Given the description of an element on the screen output the (x, y) to click on. 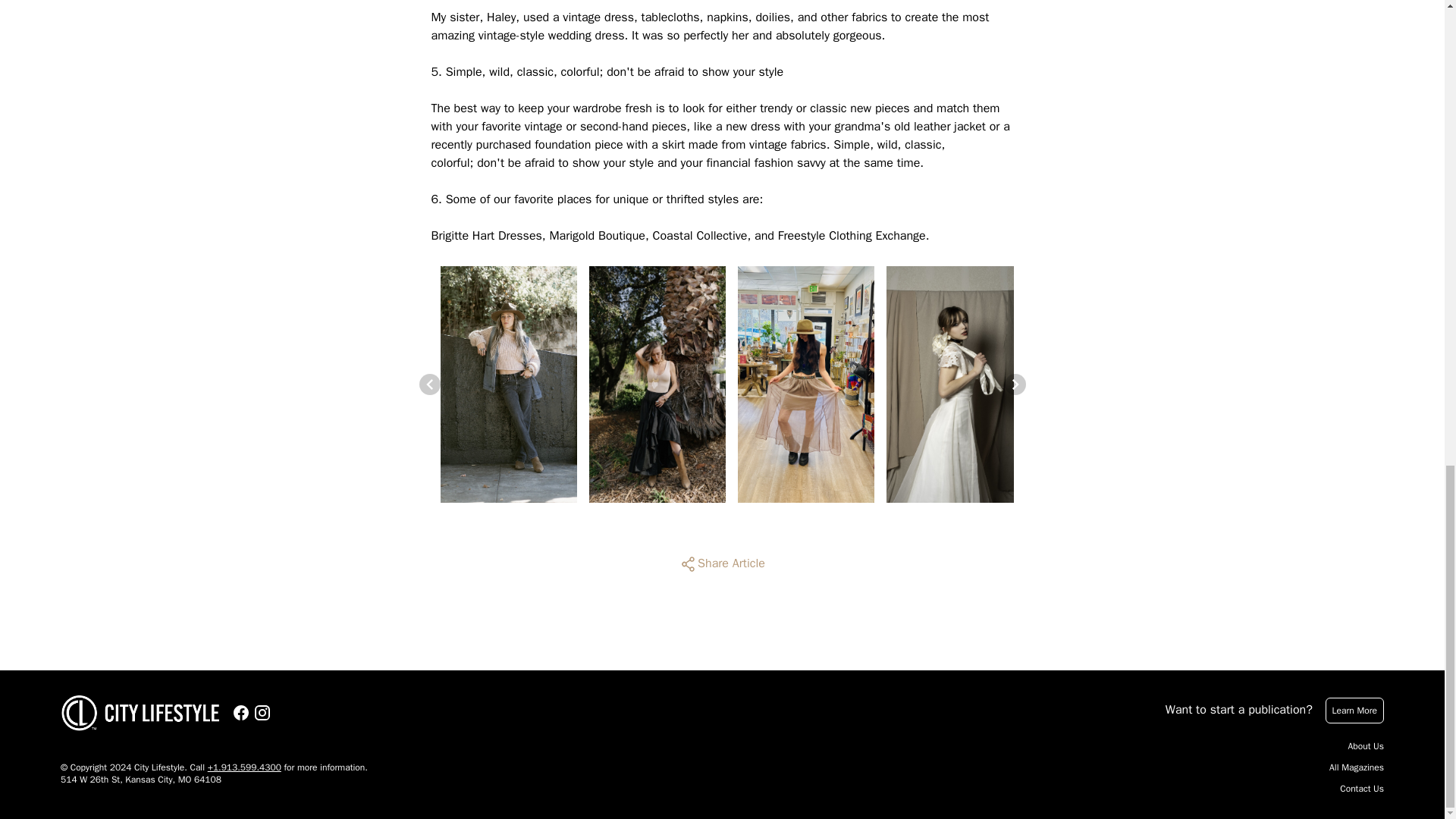
Contact Us (1361, 788)
Share Article (722, 563)
All Magazines (1356, 767)
About Us (1366, 746)
Learn More (1354, 710)
